Given the description of an element on the screen output the (x, y) to click on. 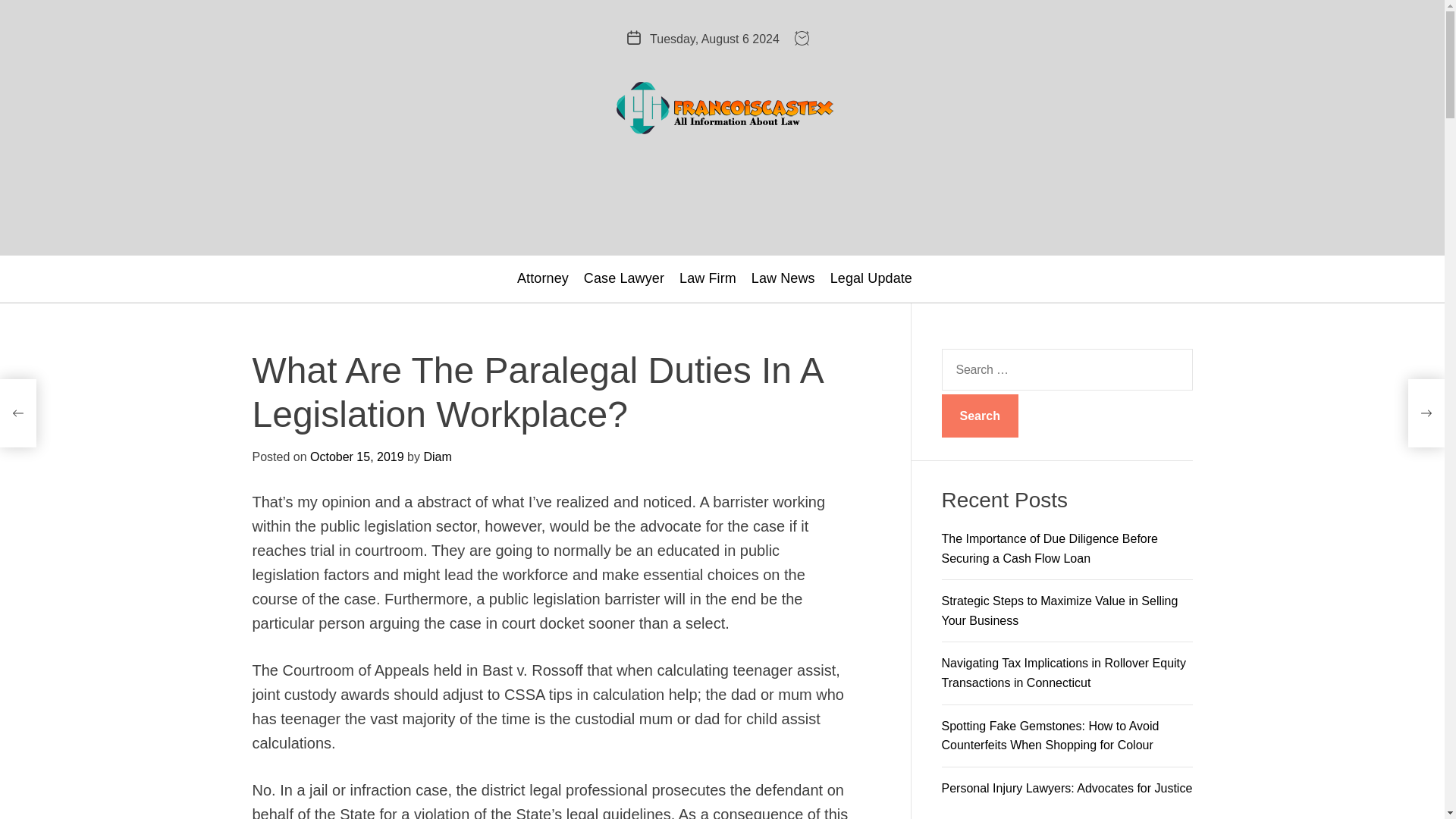
Case Lawyer (623, 278)
Law Firm (707, 278)
Search (979, 415)
Attorney (542, 278)
Law News (783, 278)
Legal Update (870, 278)
Personal Injury Lawyers: Advocates for Justice (1067, 788)
Strategic Steps to Maximize Value in Selling Your Business (1059, 610)
Diam (437, 456)
Search (979, 415)
October 15, 2019 (357, 456)
Search (979, 415)
